Given the description of an element on the screen output the (x, y) to click on. 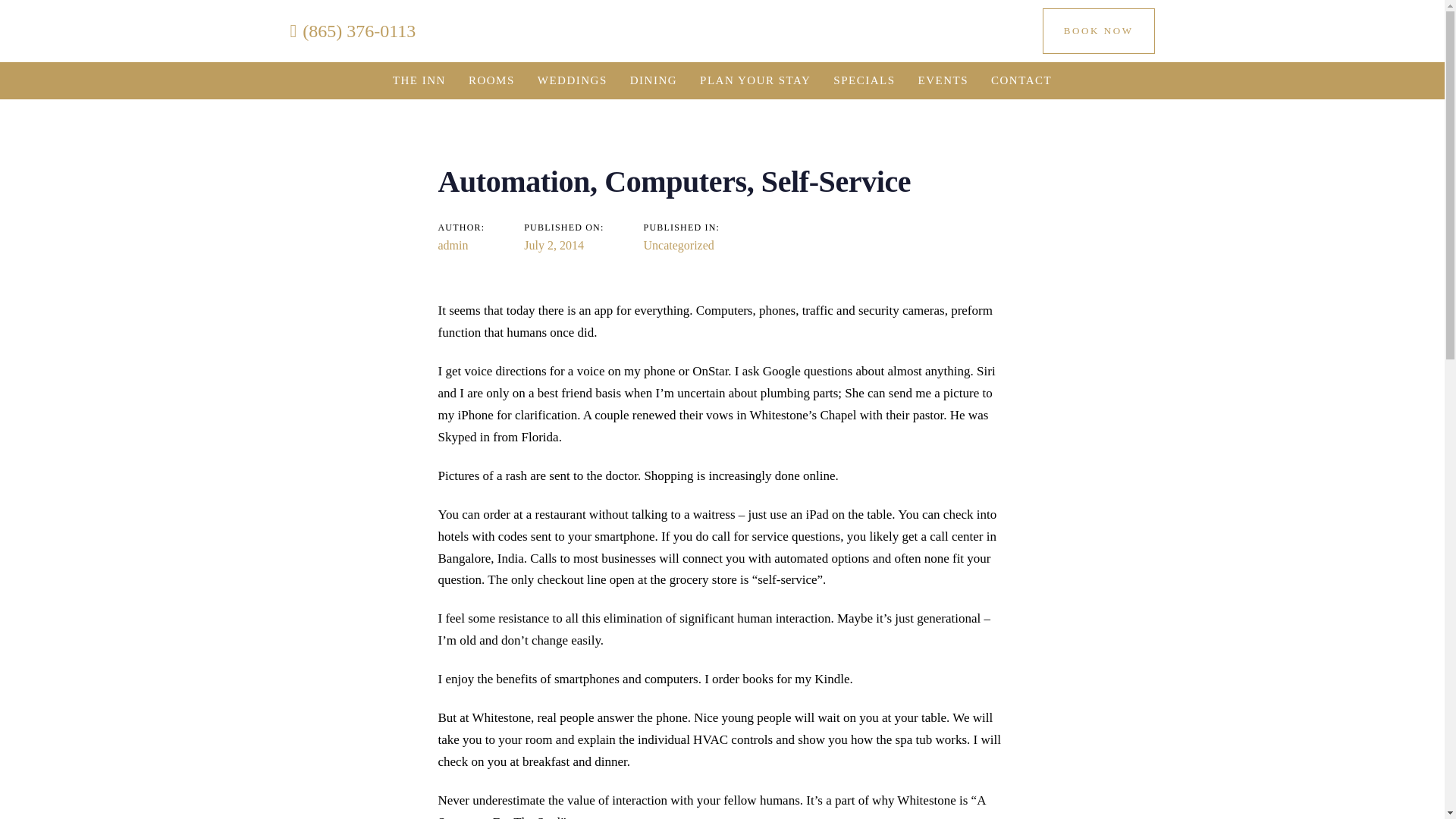
SPECIALS (863, 80)
CONTACT (1020, 80)
ROOMS (491, 80)
EVENTS (943, 80)
admin (453, 245)
Book Now (1098, 31)
WEDDINGS (571, 80)
PLAN YOUR STAY (755, 80)
BOOK NOW (1098, 31)
July 2, 2014 (553, 245)
